Given the description of an element on the screen output the (x, y) to click on. 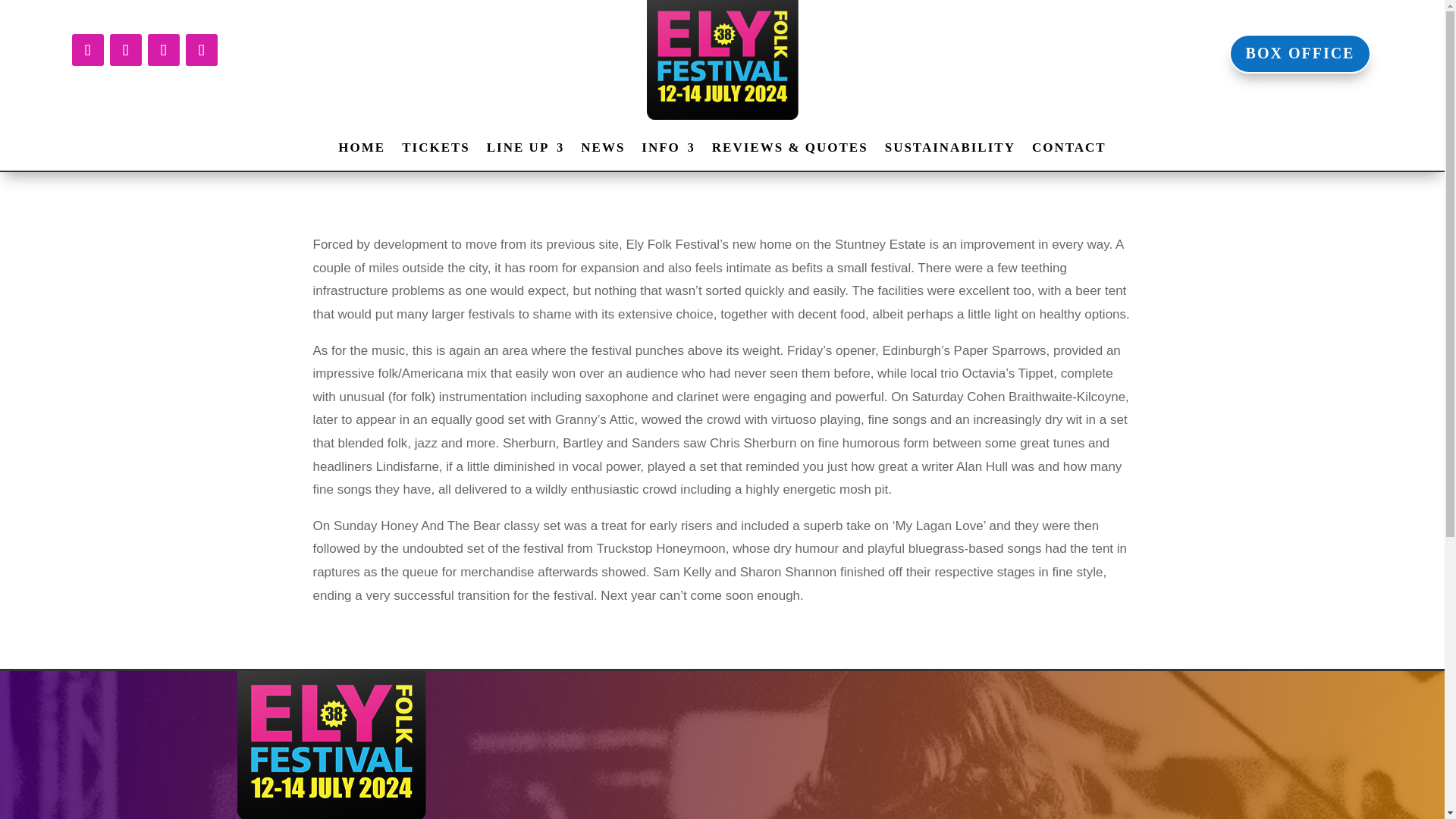
Follow on Instagram (163, 50)
eyfflogo-2024-header-logo (721, 59)
TICKETS (435, 150)
Follow on Facebook (87, 50)
NEWS (602, 150)
Follow on X (125, 50)
INFO (668, 150)
eyfflogo-2024-header-logo (330, 744)
HOME (361, 150)
BOX OFFICE (1299, 53)
LINE UP (525, 150)
CONTACT (1069, 150)
SUSTAINABILITY (949, 150)
Follow on TikTok (200, 50)
